Given the description of an element on the screen output the (x, y) to click on. 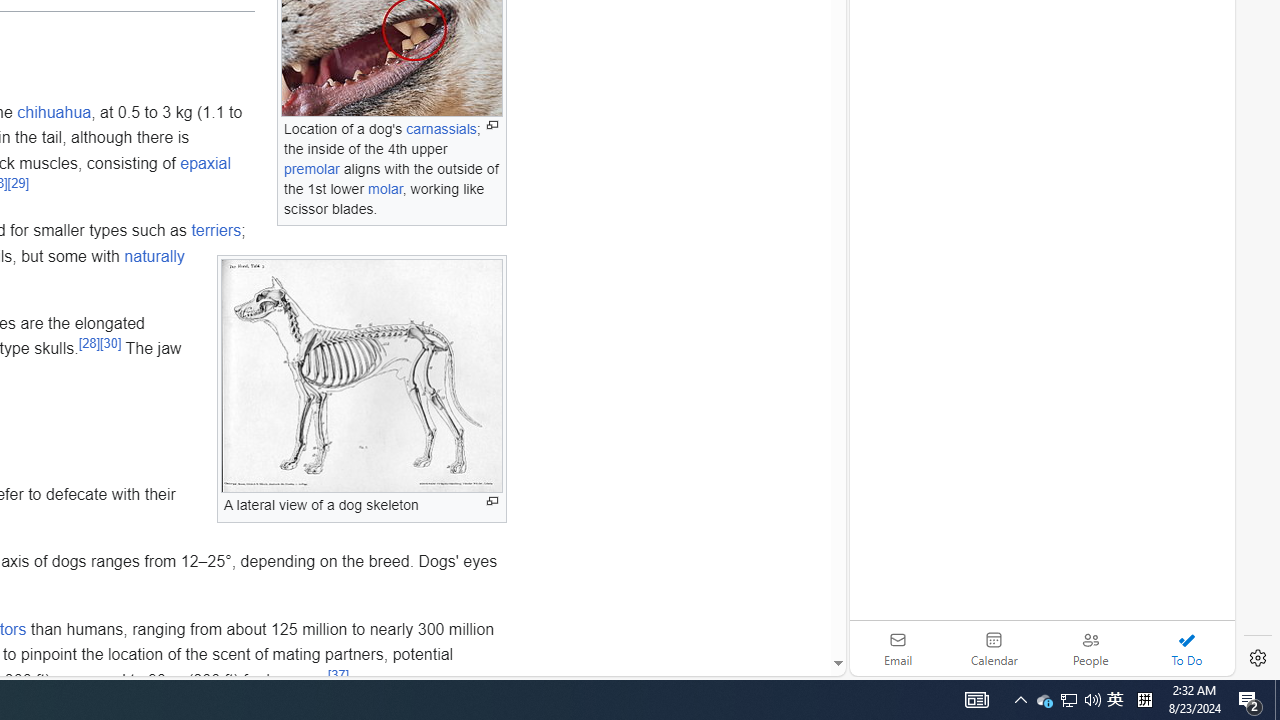
Email (898, 648)
Calendar. Date today is 22 (994, 648)
[29] (17, 183)
premolar (312, 169)
To Do (1186, 648)
[28] (89, 343)
People (1090, 648)
Class: mw-file-description (361, 376)
molar (385, 188)
terriers (215, 230)
chihuahua (54, 111)
Class: mw-file-element (362, 376)
[30] (110, 343)
carnassials (441, 129)
